Given the description of an element on the screen output the (x, y) to click on. 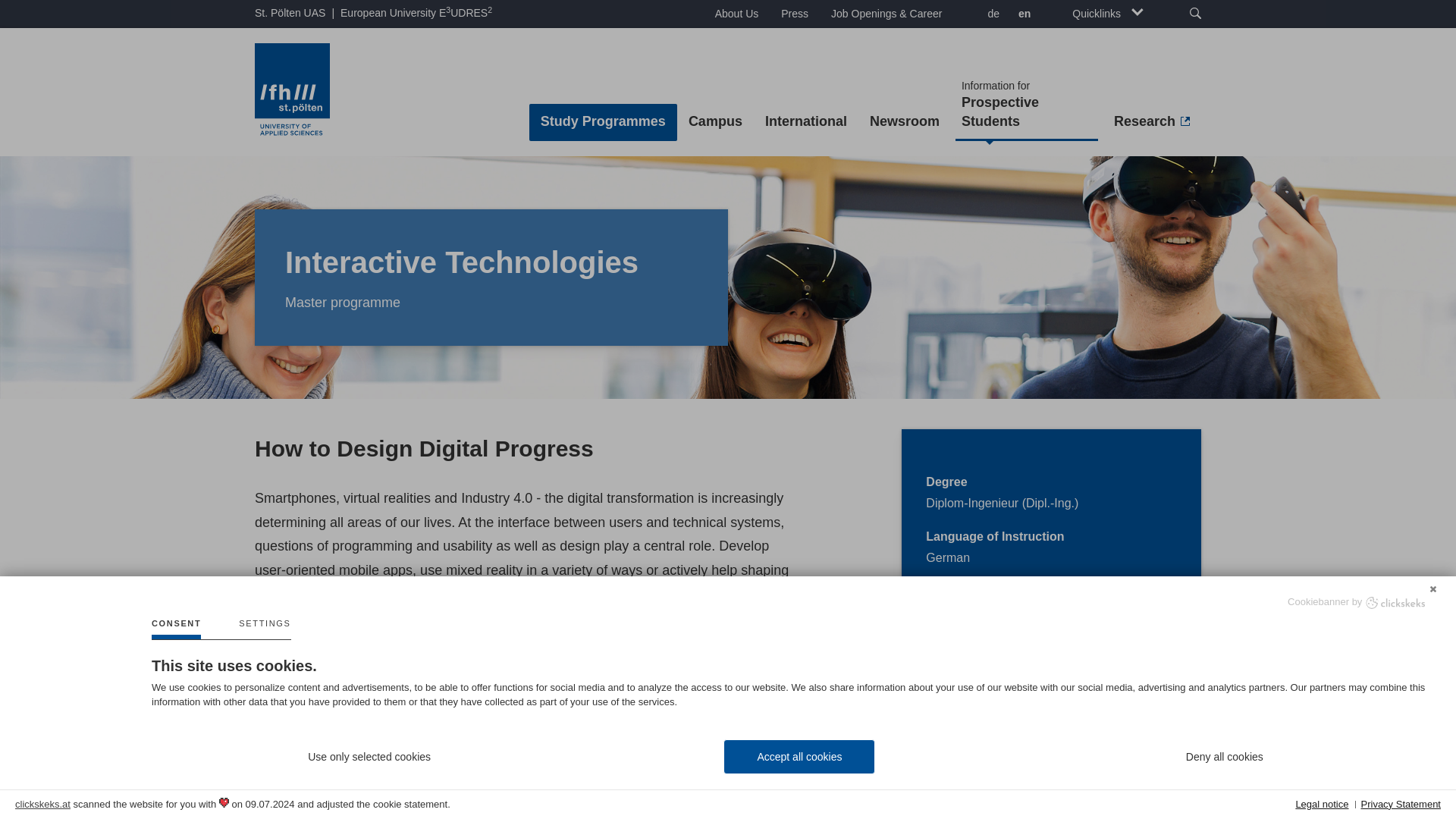
Quicklinks (1107, 14)
Unterrichtssprache (348, 683)
International (806, 122)
Campus (715, 122)
Deutsch (991, 14)
Newsroom (904, 122)
Press (794, 14)
Close (1433, 587)
European University E3UDRES2 (416, 12)
About Us (736, 14)
clickskeks.at (41, 803)
Clickskeks (1395, 602)
Research (1151, 122)
